Given the description of an element on the screen output the (x, y) to click on. 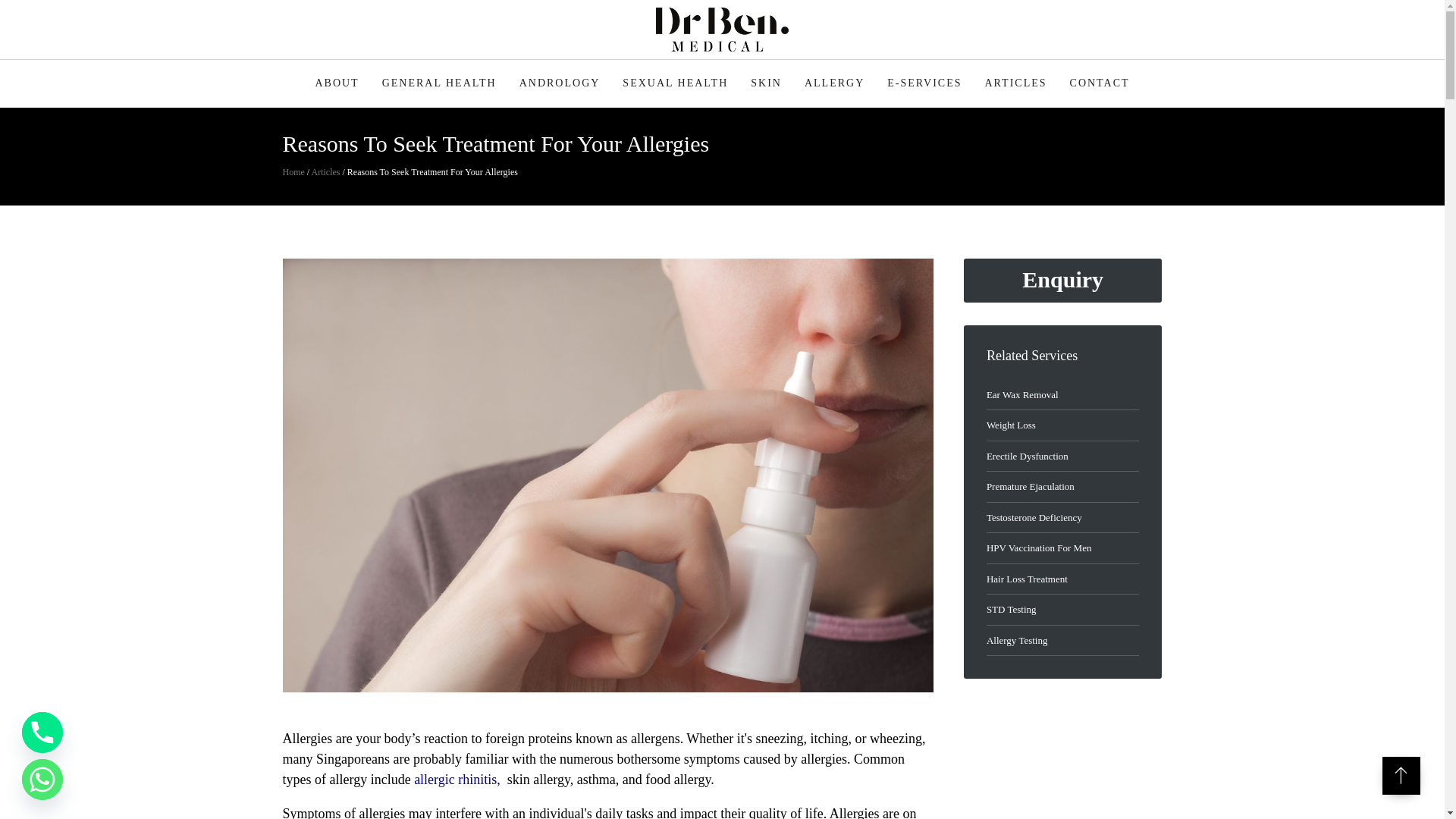
ANDROLOGY (559, 83)
SEXUAL HEALTH (675, 83)
ABOUT (335, 83)
GENERAL HEALTH (439, 83)
